Given the description of an element on the screen output the (x, y) to click on. 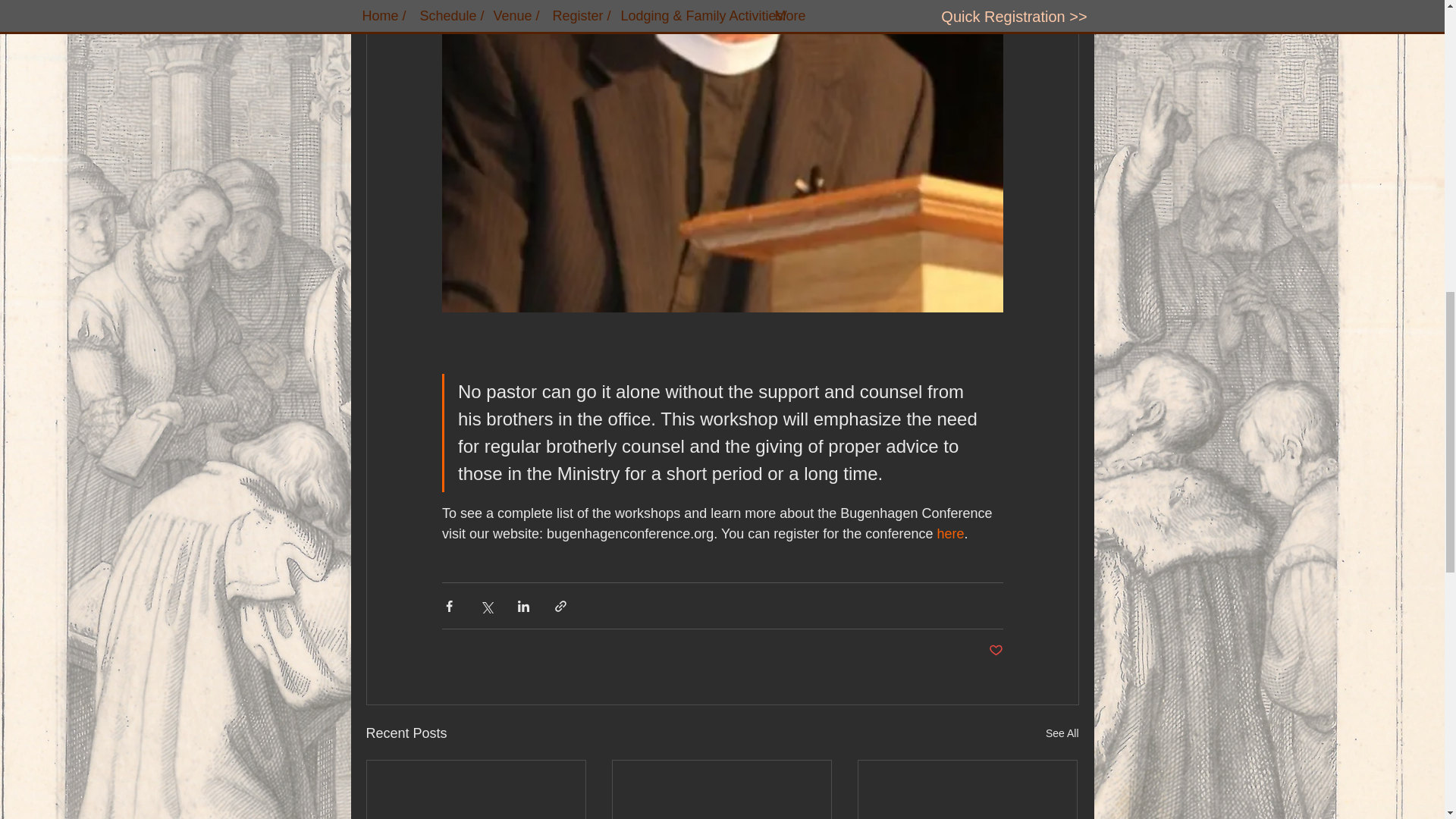
Post not marked as liked (995, 650)
here (949, 533)
See All (1061, 733)
